Given the description of an element on the screen output the (x, y) to click on. 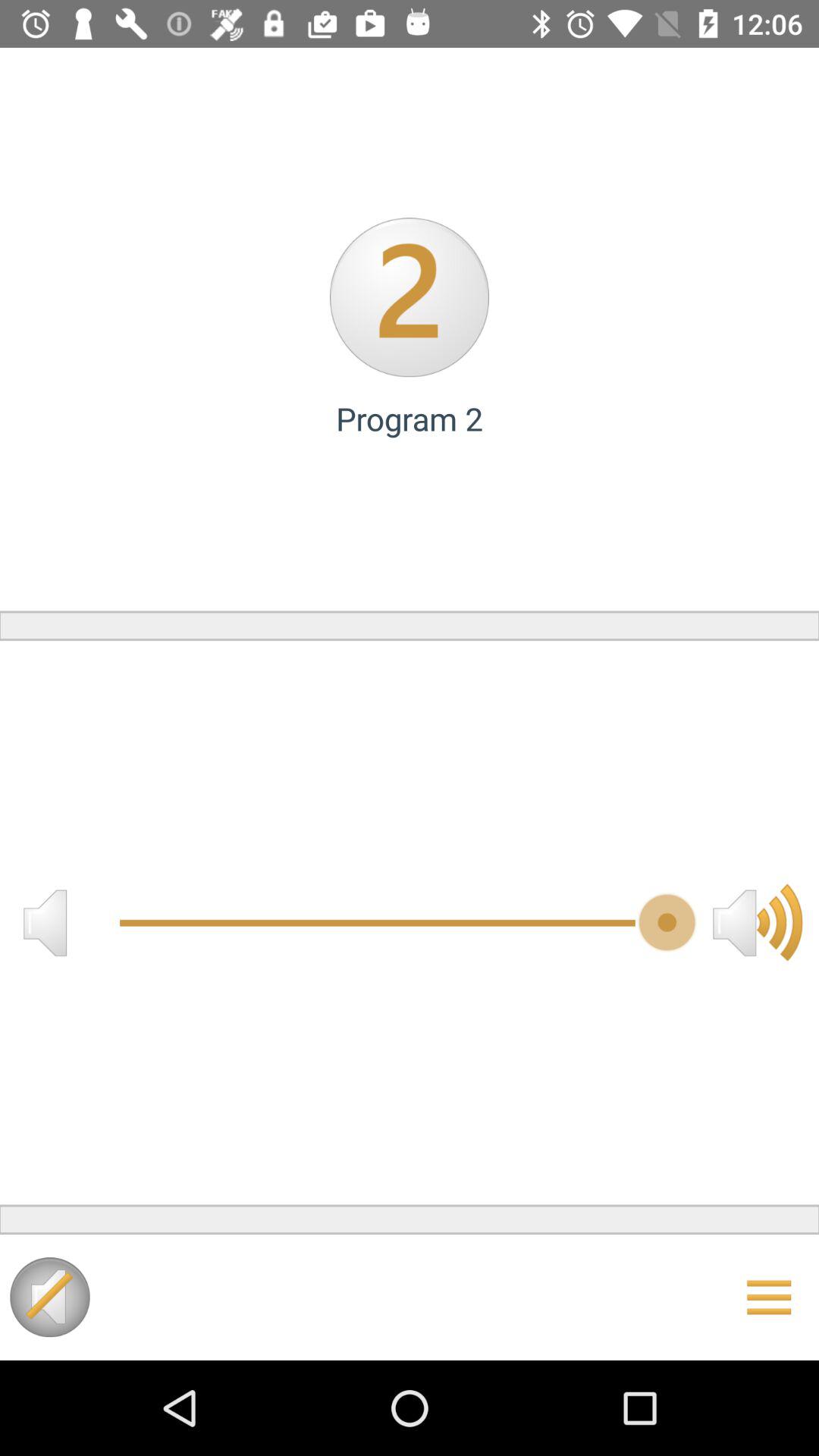
sound on (49, 1297)
